Given the description of an element on the screen output the (x, y) to click on. 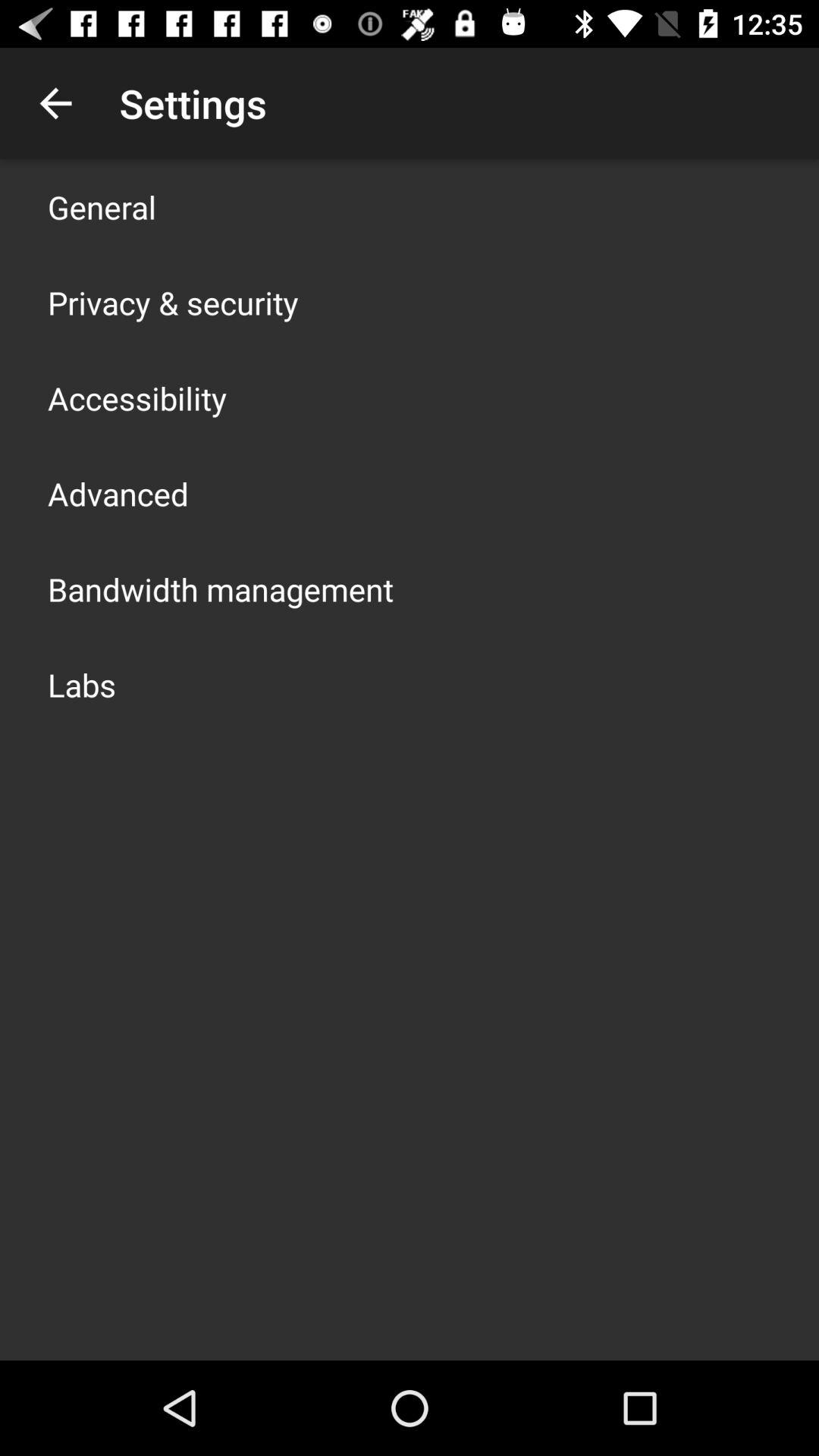
open the item next to settings app (55, 103)
